Given the description of an element on the screen output the (x, y) to click on. 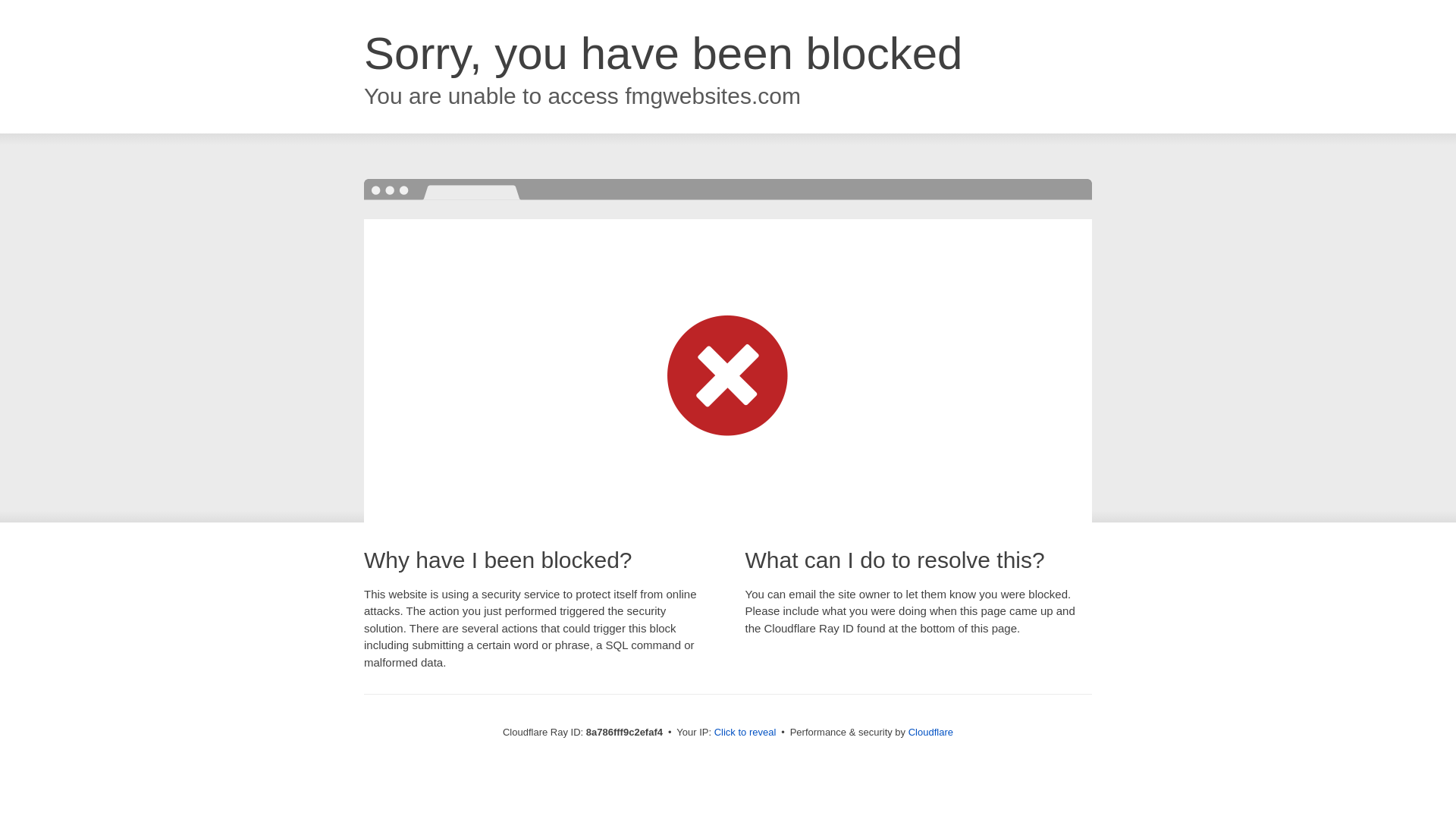
Cloudflare (930, 731)
Click to reveal (745, 732)
